Given the description of an element on the screen output the (x, y) to click on. 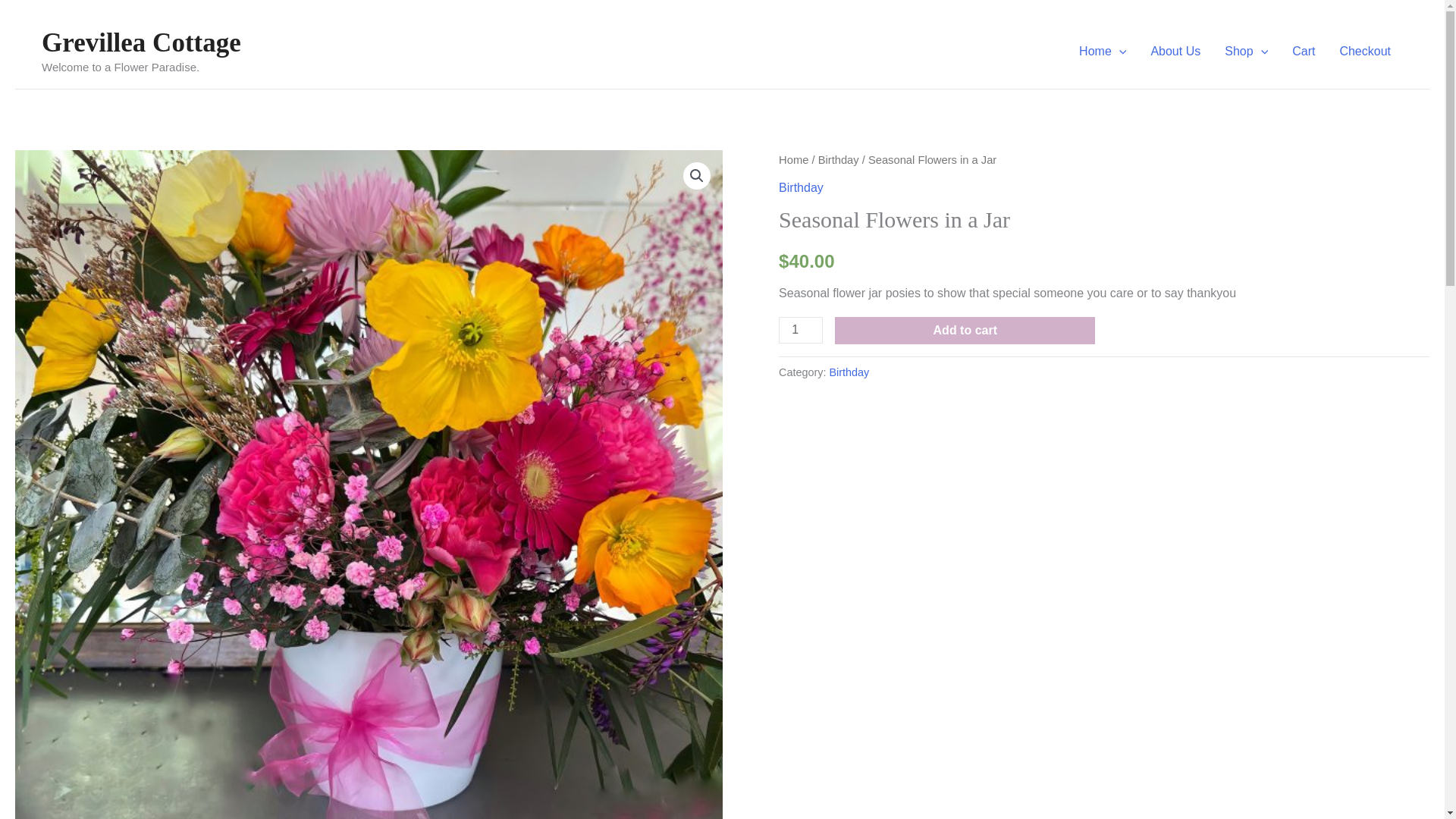
About Us (1175, 51)
Birthday (838, 159)
Checkout (1364, 51)
Birthday (801, 187)
1 (800, 329)
Grevillea Cottage (141, 42)
Home (1102, 51)
Home (793, 159)
Shop (1245, 51)
